Given the description of an element on the screen output the (x, y) to click on. 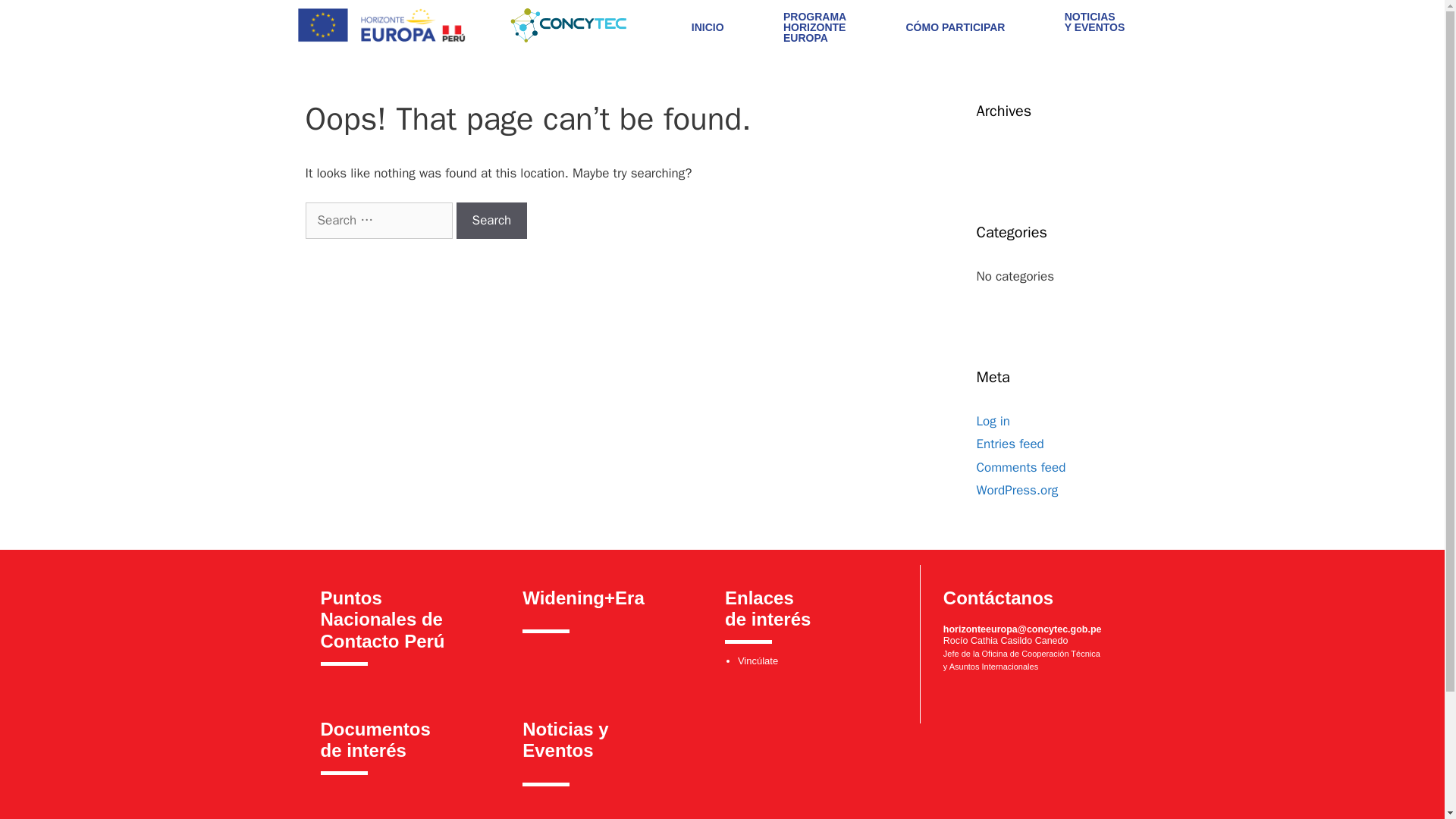
INICIO (708, 22)
Comments feed (1020, 467)
Search for: (815, 27)
Log in (1094, 22)
WordPress.org (377, 220)
Noticias y Eventos (993, 420)
Search (1017, 489)
Entries feed (565, 740)
